Given the description of an element on the screen output the (x, y) to click on. 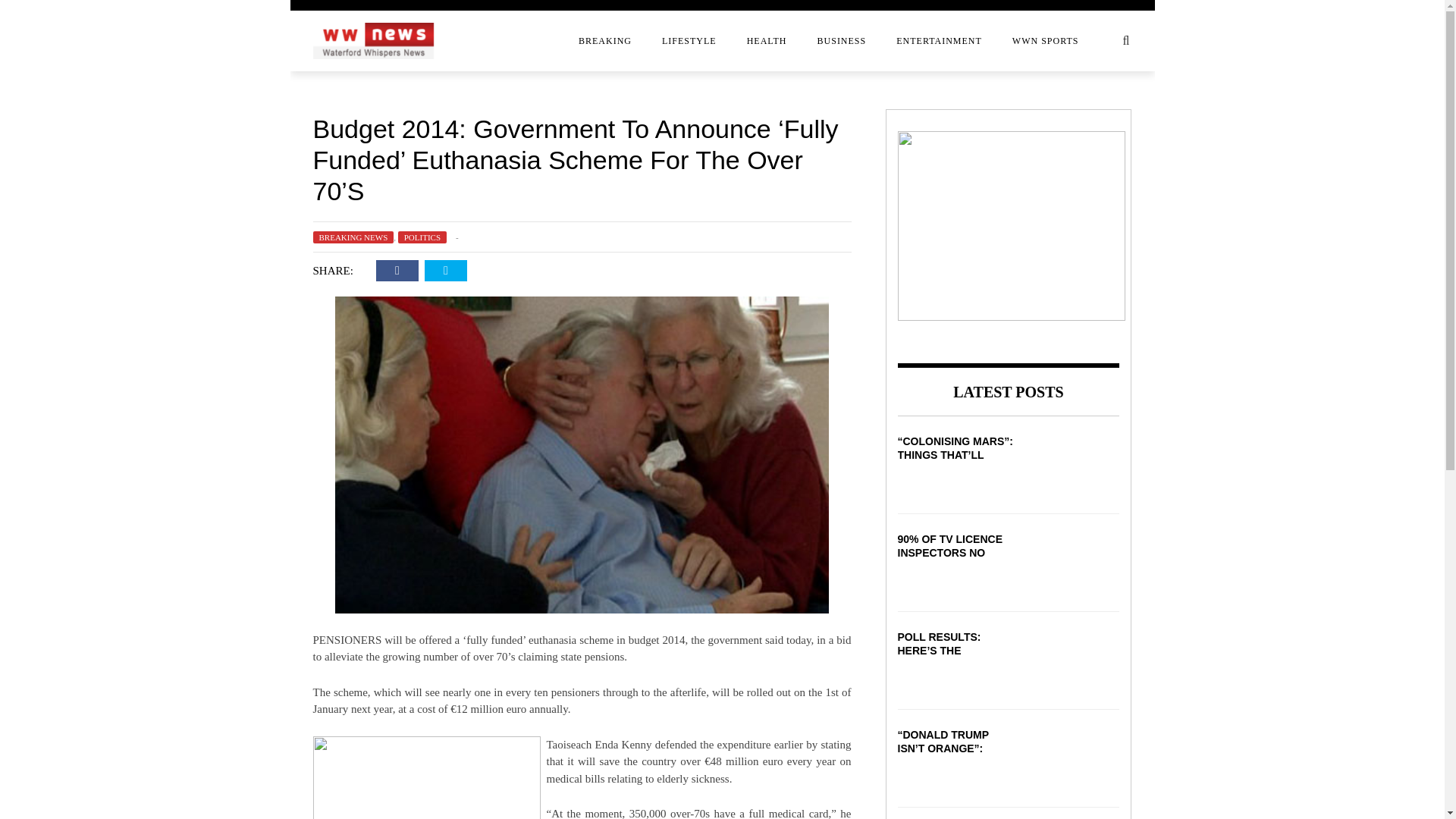
Twitter (446, 270)
BREAKING (604, 40)
Facebook (396, 270)
